Given the description of an element on the screen output the (x, y) to click on. 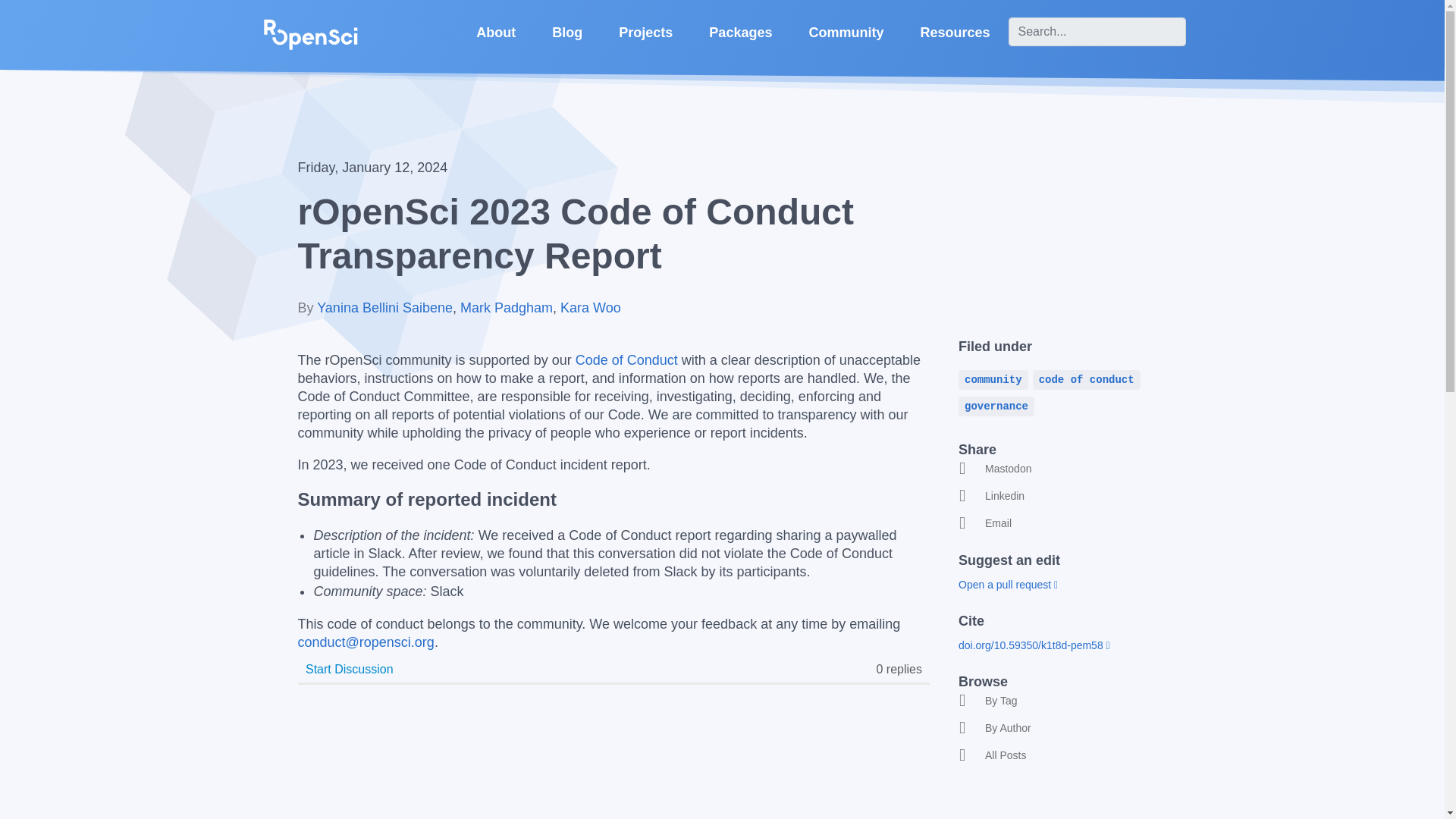
Community (845, 32)
Projects (644, 32)
About (496, 32)
Packages (740, 32)
Blog (566, 32)
